Given the description of an element on the screen output the (x, y) to click on. 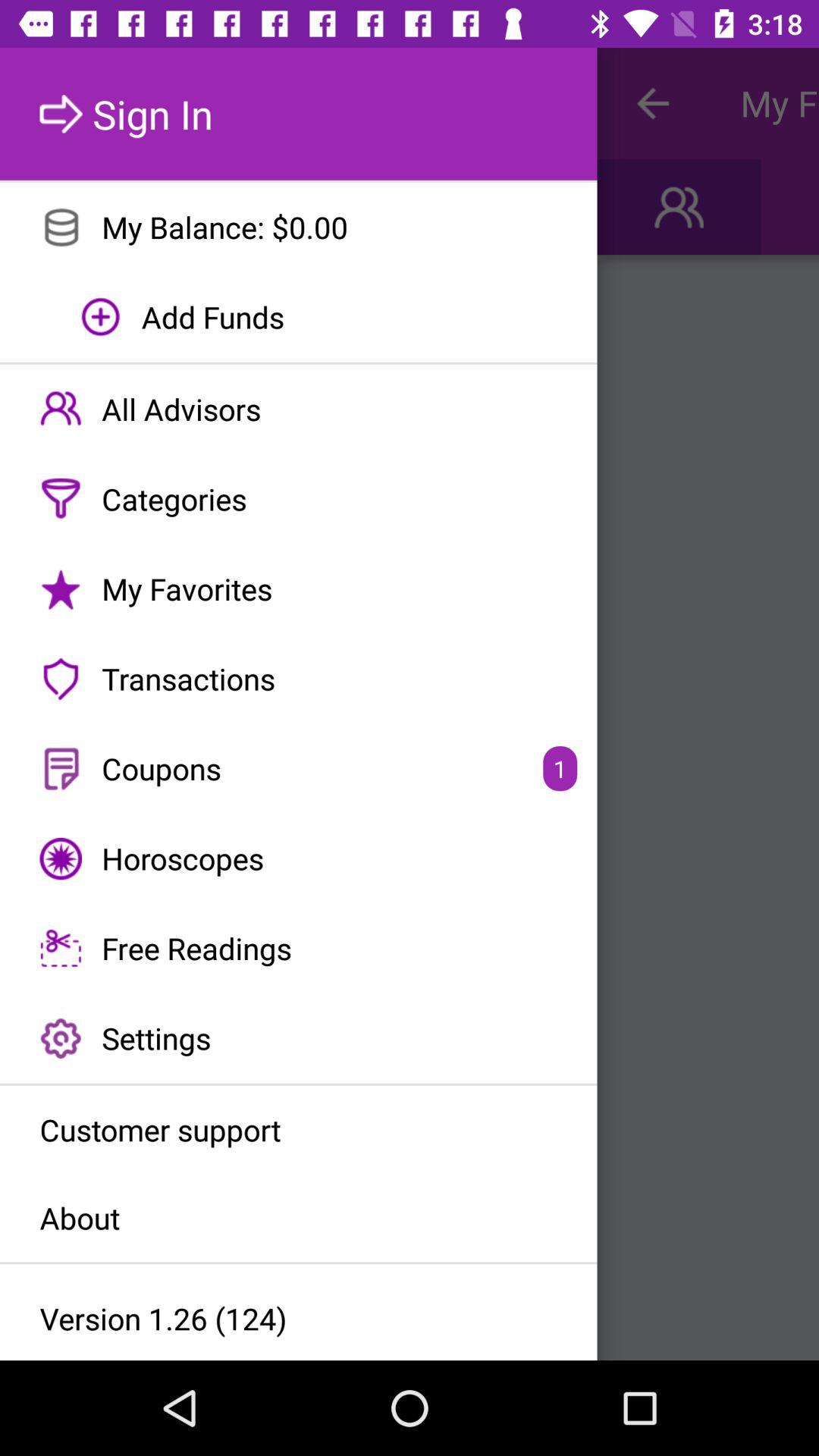
launch the transactions icon (298, 679)
